Given the description of an element on the screen output the (x, y) to click on. 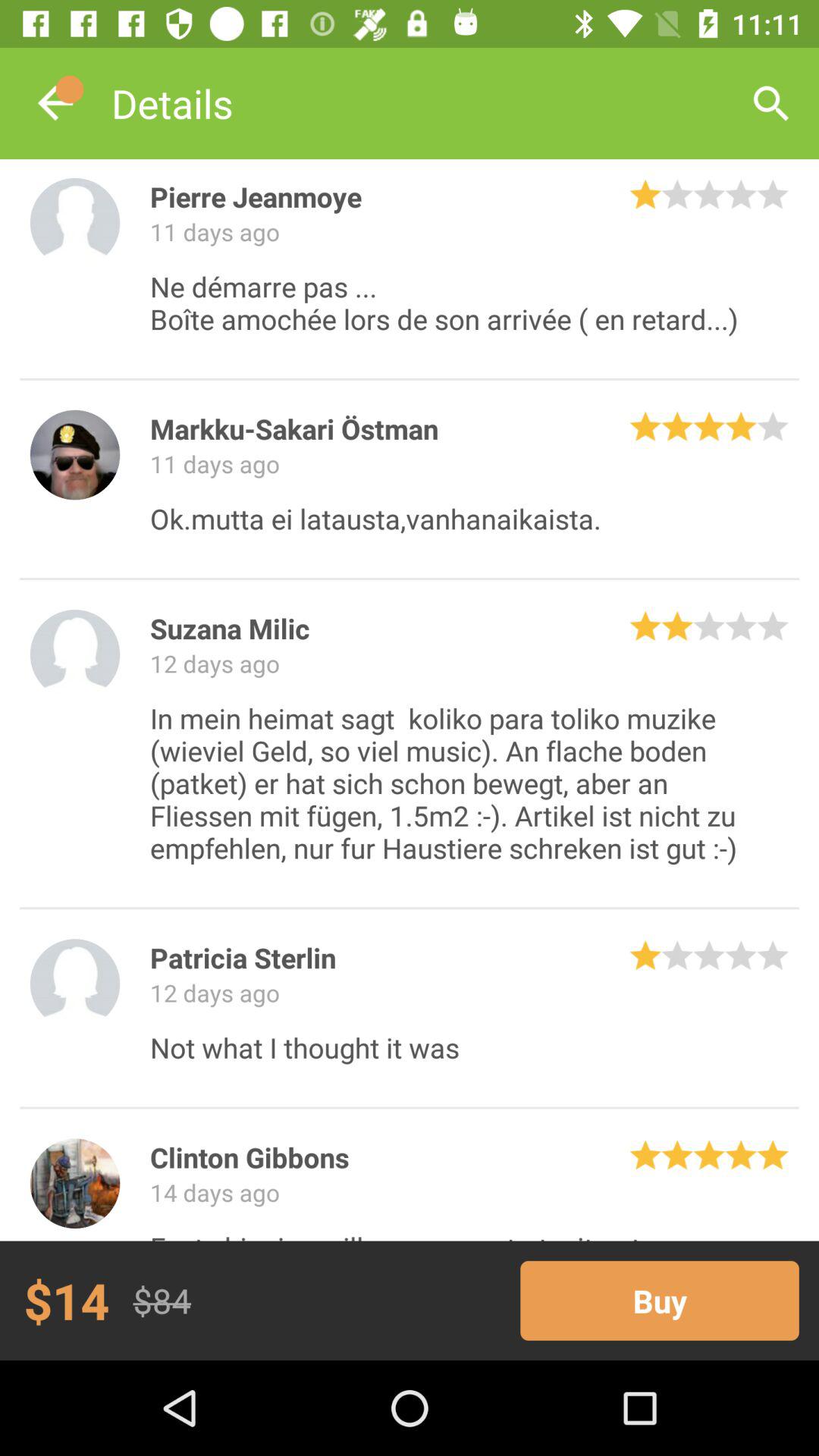
choose the icon next to the details item (55, 103)
